Given the description of an element on the screen output the (x, y) to click on. 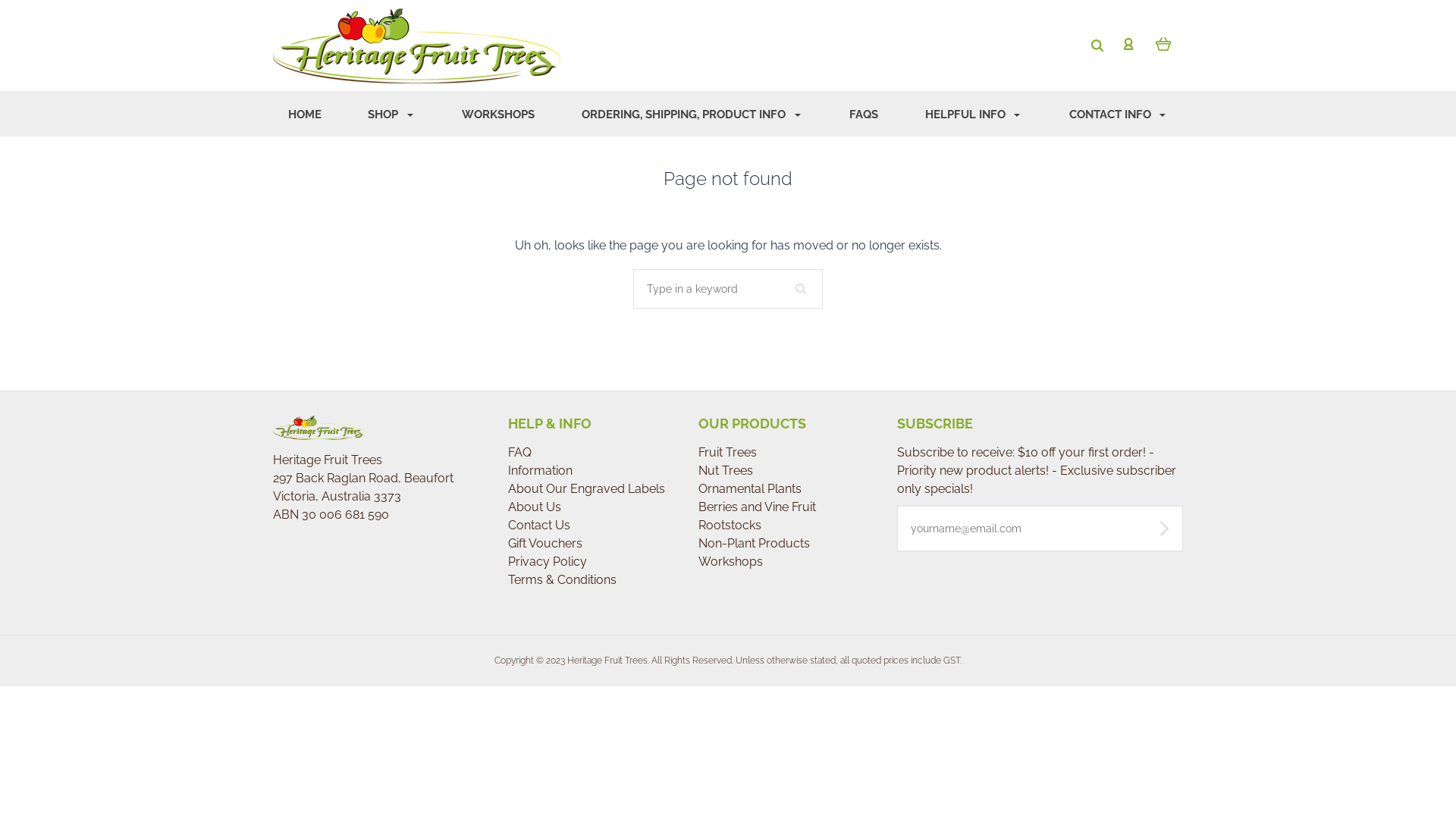
Privacy Policy Element type: text (547, 561)
Workshops Element type: text (730, 561)
HOME Element type: text (304, 114)
Berries and Vine Fruit Element type: text (756, 506)
Nut Trees Element type: text (725, 470)
Fruit Trees Element type: text (727, 452)
Rootstocks Element type: text (729, 524)
Ornamental Plants Element type: text (749, 488)
Non-Plant Products Element type: text (753, 543)
ORDERING, SHIPPING, PRODUCT INFO Element type: text (691, 114)
CONTACT INFO Element type: text (1118, 114)
Contact Us Element type: text (539, 524)
About Us Element type: text (534, 506)
WORKSHOPS Element type: text (498, 114)
SHOP Element type: text (391, 114)
Gift Vouchers Element type: text (545, 543)
HELPFUL INFO Element type: text (973, 114)
Terms & Conditions Element type: text (562, 579)
About Our Engraved Labels Element type: text (586, 488)
FAQ Element type: text (519, 452)
Information Element type: text (540, 470)
0 Element type: text (1163, 43)
FAQS Element type: text (863, 114)
